Given the description of an element on the screen output the (x, y) to click on. 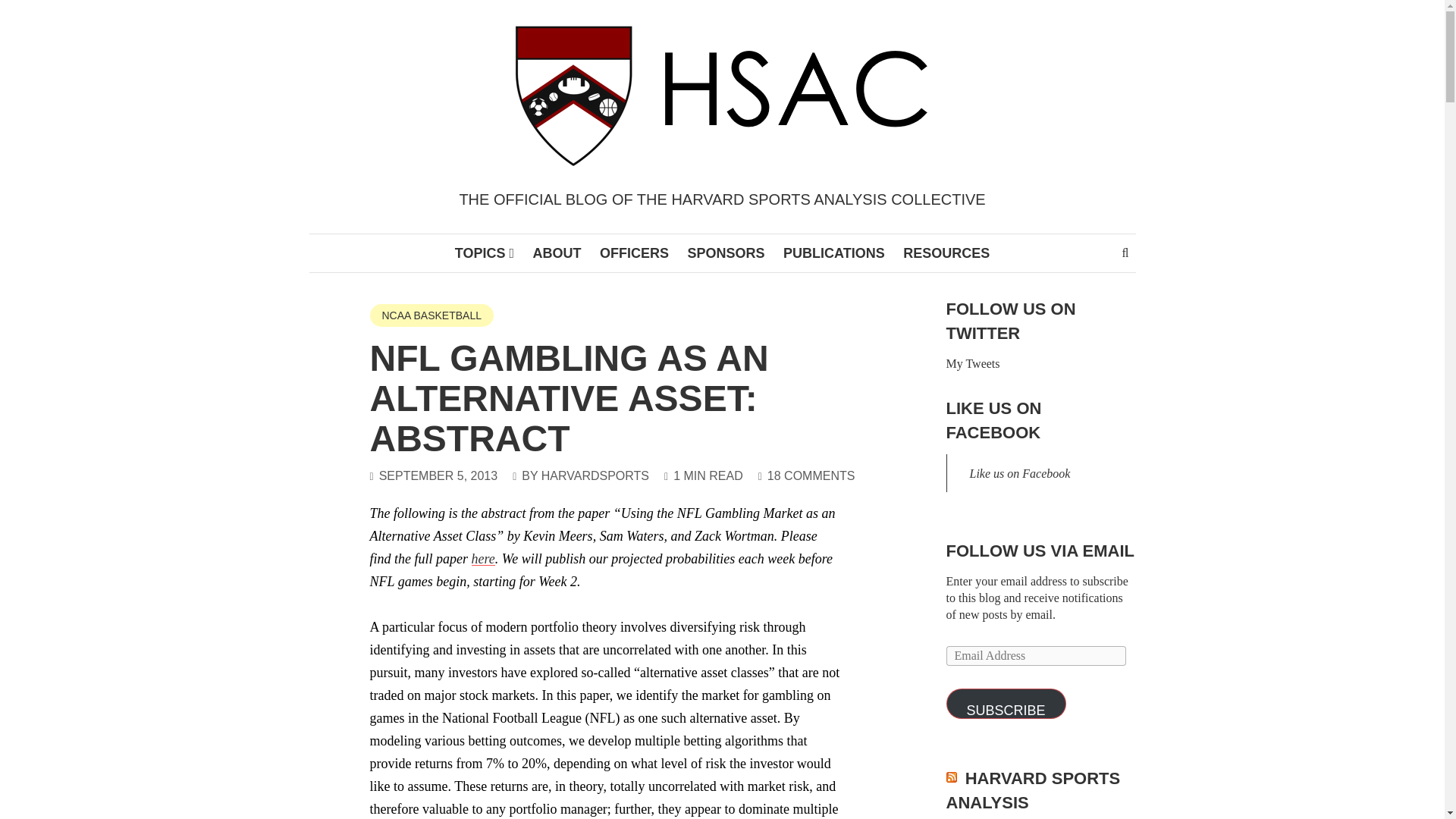
HARVARDSPORTS (595, 475)
RESOURCES (946, 252)
SPONSORS (726, 252)
ABOUT (556, 252)
here (483, 558)
TOPICS (483, 252)
NCAA BASKETBALL (432, 314)
OFFICERS (634, 252)
PUBLICATIONS (834, 252)
18 COMMENTS (811, 475)
